Given the description of an element on the screen output the (x, y) to click on. 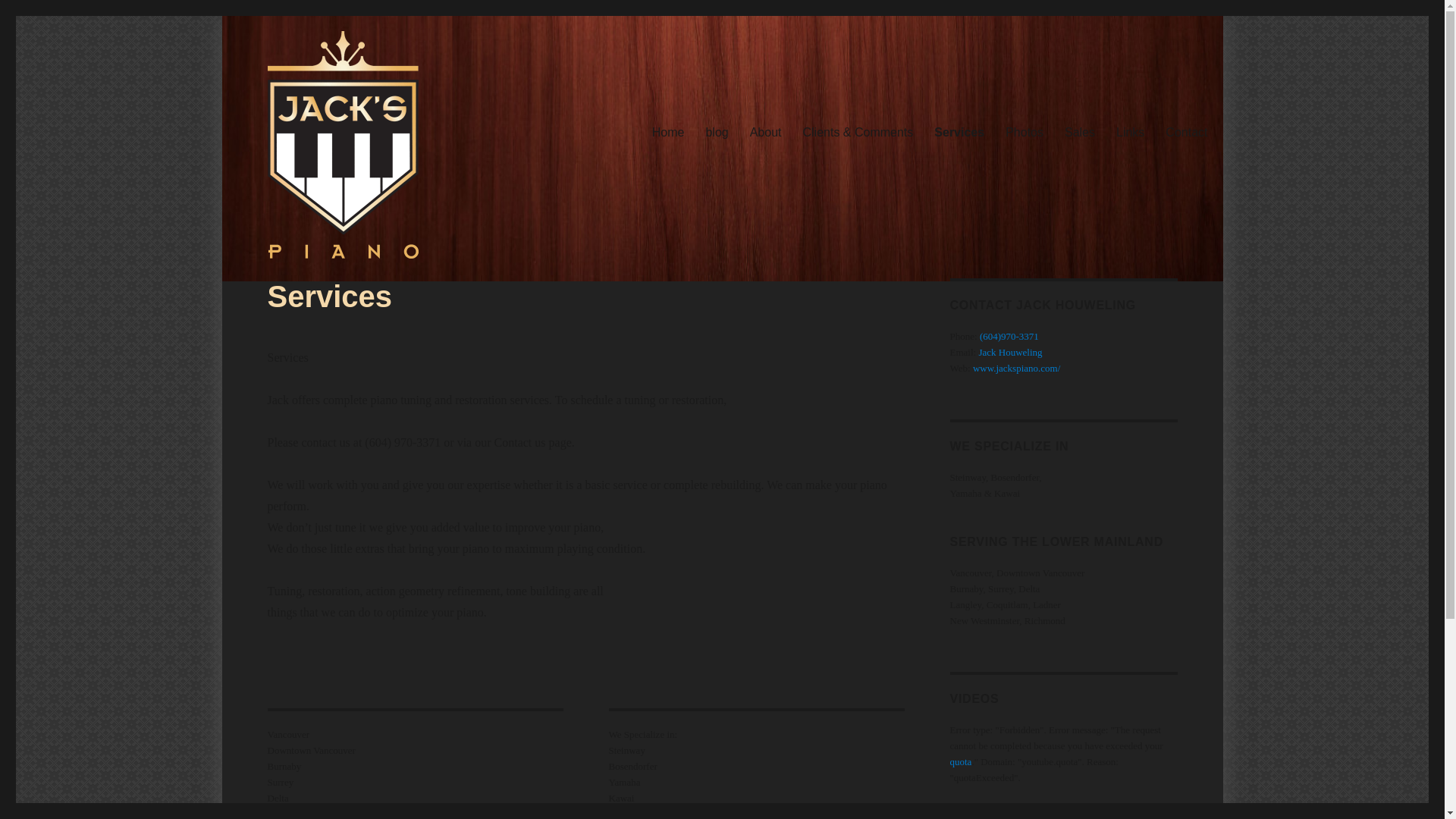
Contact (1185, 132)
blog (716, 132)
Services (958, 132)
Jack's Piano (300, 128)
Photos (1024, 132)
About (765, 132)
Home (668, 132)
quota (960, 761)
Links (1129, 132)
Jack Houweling (1010, 351)
